Given the description of an element on the screen output the (x, y) to click on. 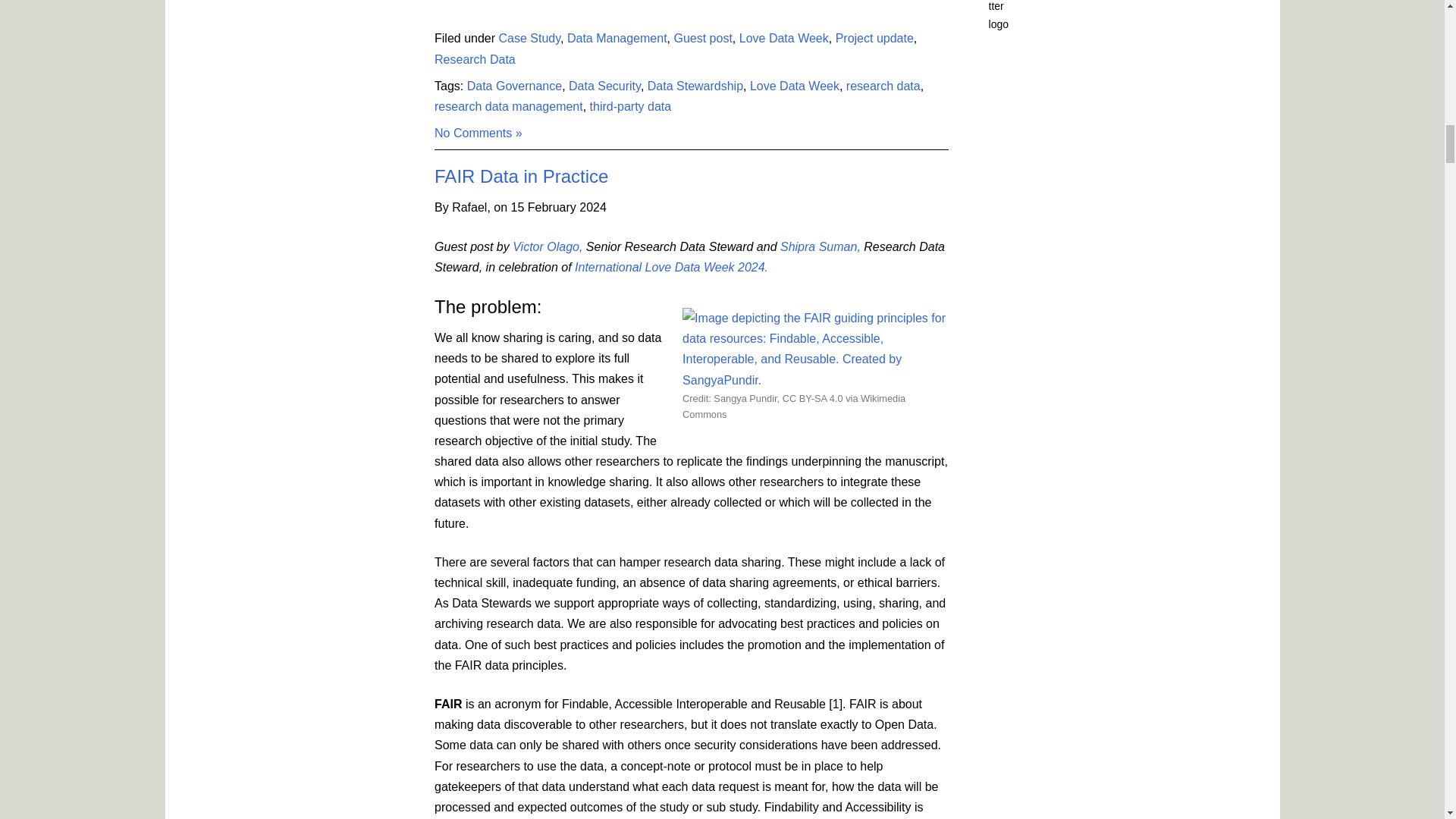
Data Security (604, 85)
Permanent Link to FAIR Data in Practice (520, 176)
Data Management (616, 38)
Data Governance (514, 85)
Guest post (702, 38)
Data Stewardship (694, 85)
Case Study (529, 38)
Project update (874, 38)
Love Data Week (783, 38)
Love Data Week (794, 85)
